Given the description of an element on the screen output the (x, y) to click on. 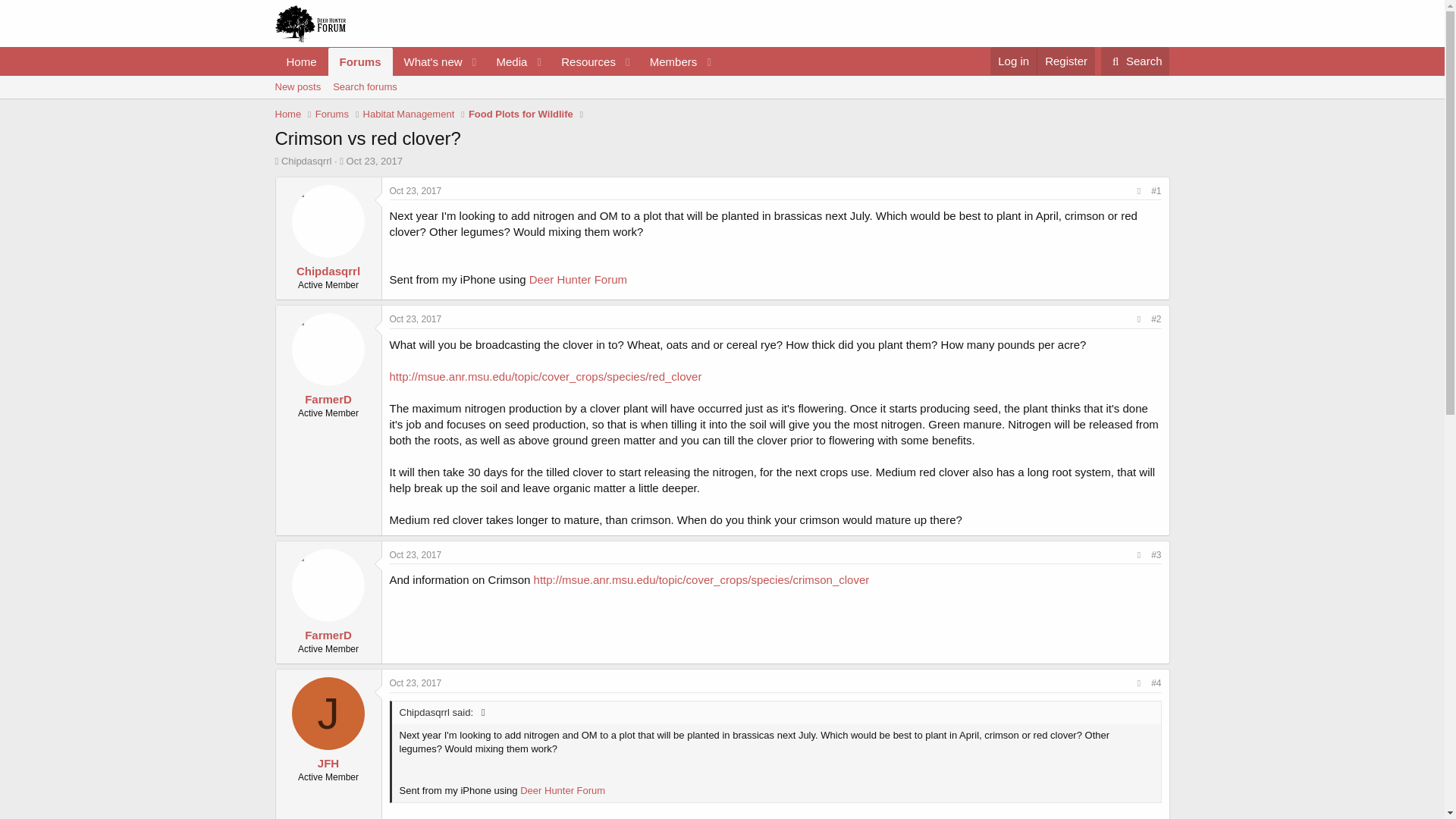
What's new (428, 61)
Oct 23, 2017 at 9:42 PM (496, 78)
Oct 23, 2017 at 7:20 AM (416, 683)
Oct 23, 2017 at 7:30 AM (416, 318)
Search (416, 554)
Media (1135, 61)
Register (720, 104)
Search forums (496, 61)
Members (506, 61)
Oct 23, 2017 at 2:21 AM (1065, 60)
Home (364, 87)
Log in (668, 61)
